Given the description of an element on the screen output the (x, y) to click on. 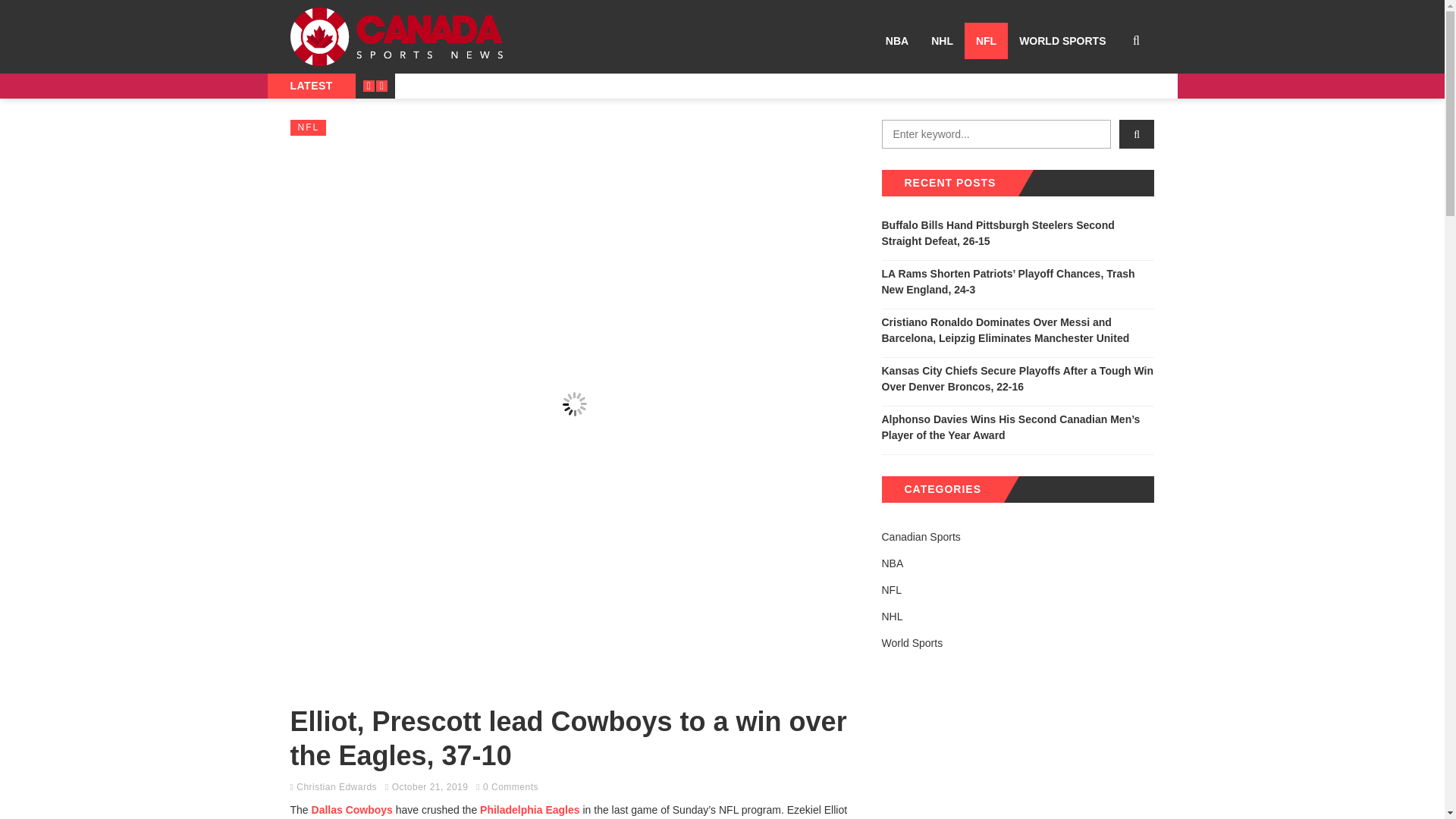
NBA (897, 40)
0 Comments (510, 787)
NHL (941, 40)
Posts by Christian Edwards (337, 787)
NFL (985, 40)
NFL (307, 127)
Philadelphia Eagles (529, 809)
Christian Edwards (337, 787)
Dallas Cowboys (352, 809)
WORLD SPORTS (1061, 40)
